Given the description of an element on the screen output the (x, y) to click on. 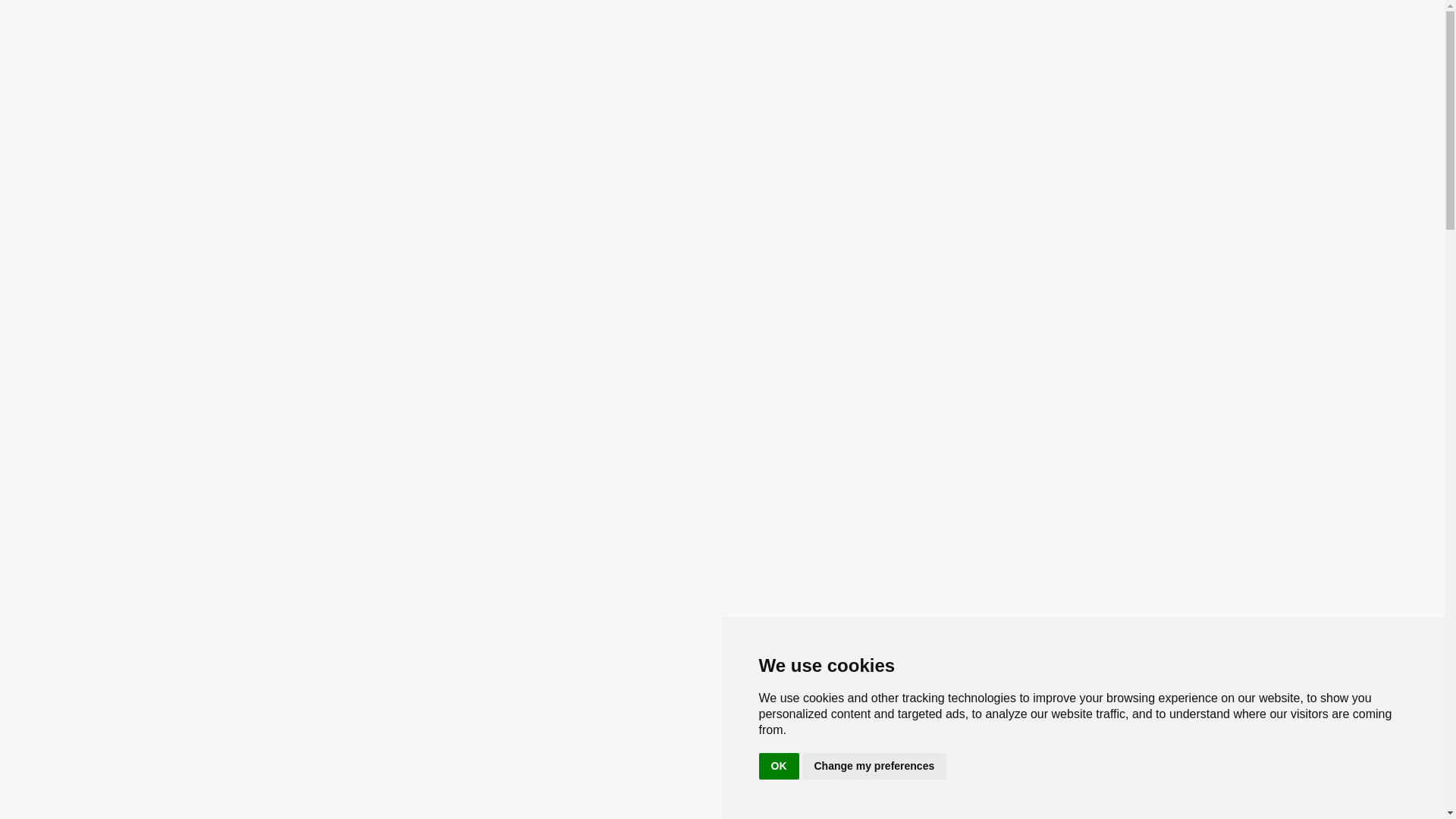
Trova un Associato HB (1144, 62)
OK (777, 765)
Entra a far parte del nostro team (929, 62)
Richiedi assistenza per un meeting (951, 183)
Richiedi assistenza per un meeting (951, 183)
ASSOCIATI (435, 134)
Internazionale (1195, 15)
Change my preferences (874, 765)
Eventi (806, 62)
